Given the description of an element on the screen output the (x, y) to click on. 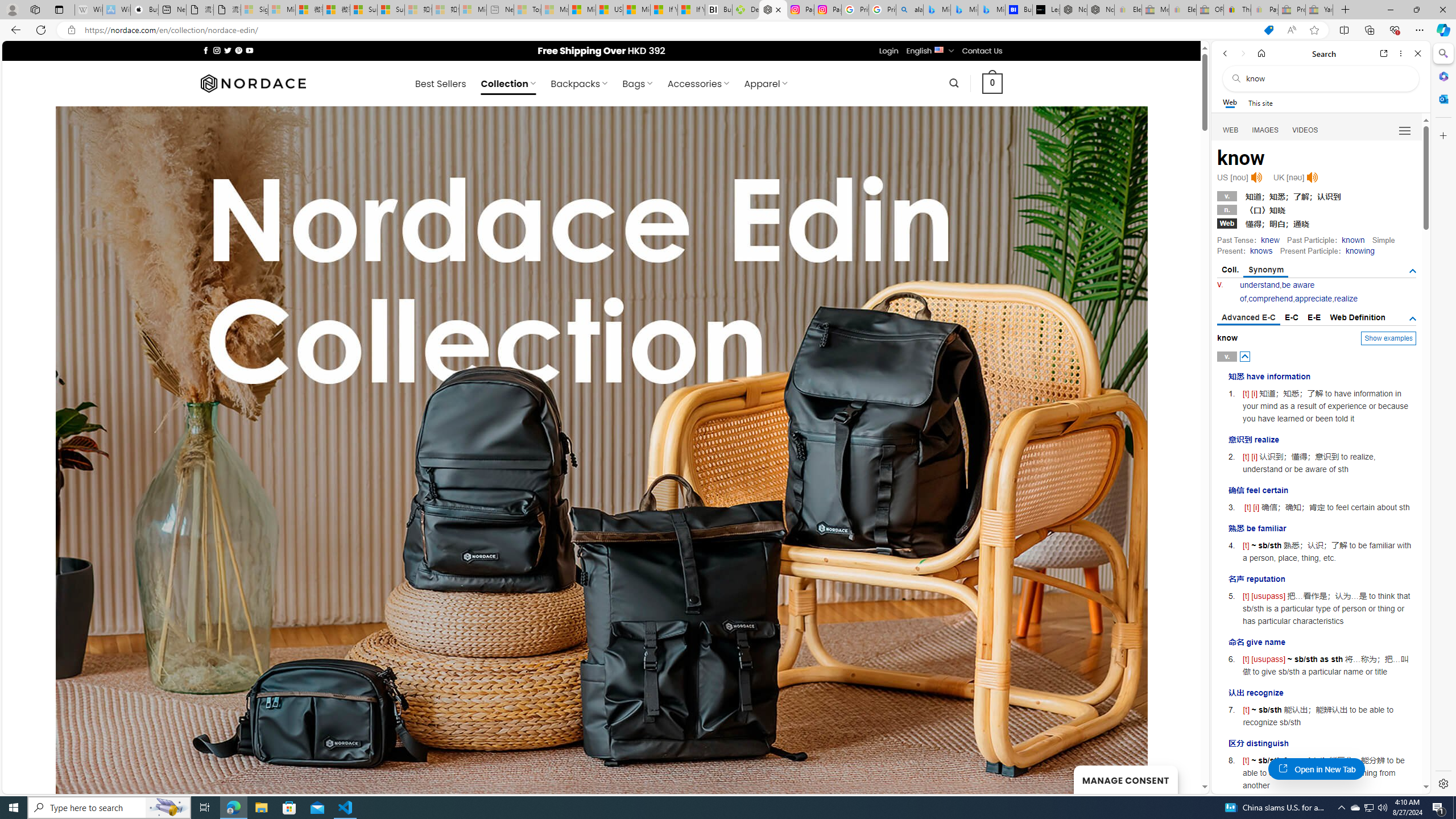
Class: collection-products hover-title product-13 (885, 430)
AutomationID: posbtn_0 (1245, 356)
Contact Us (982, 50)
knows (1260, 250)
Coll. (1230, 269)
